Given the description of an element on the screen output the (x, y) to click on. 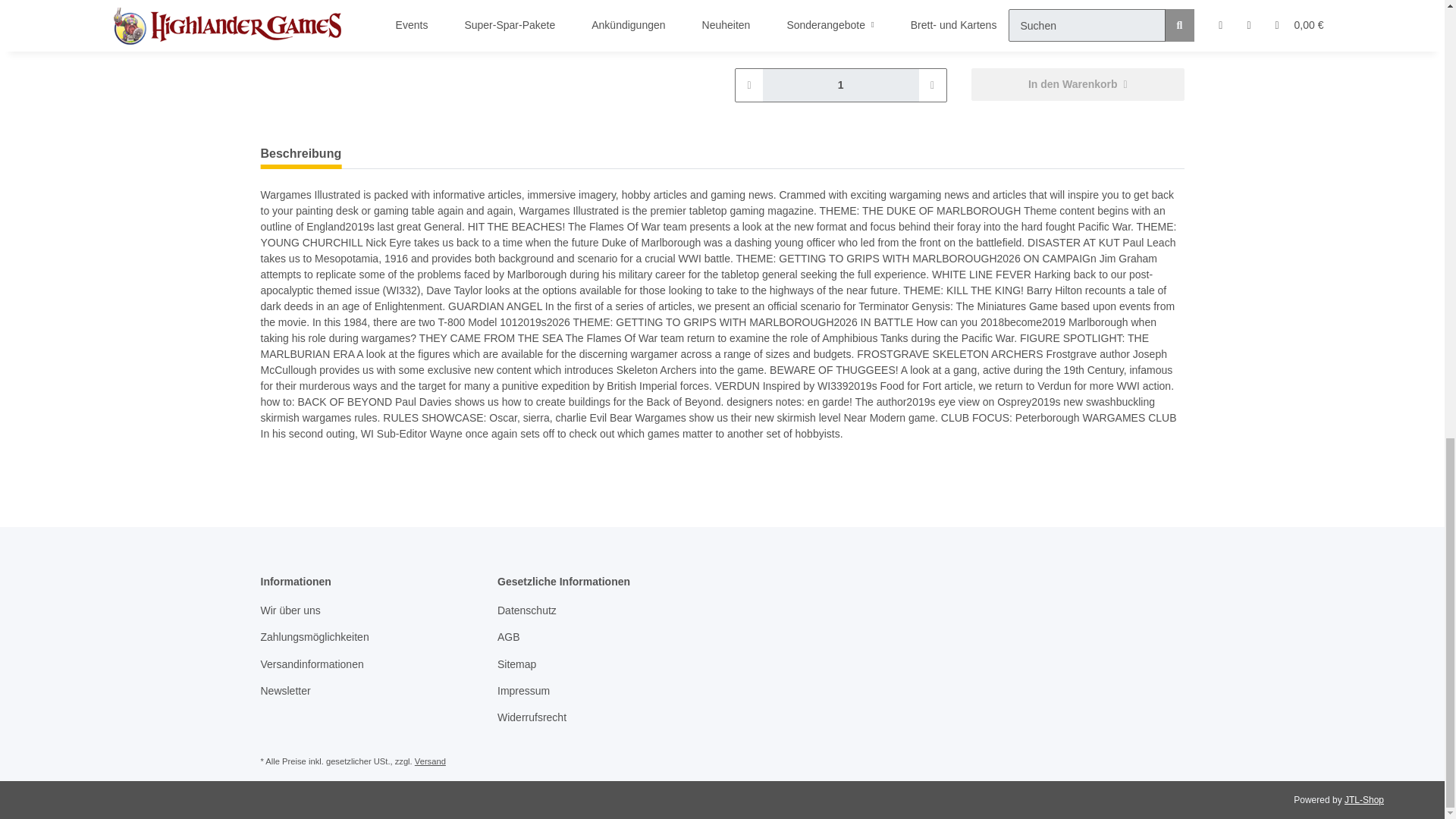
1 (840, 84)
